Given the description of an element on the screen output the (x, y) to click on. 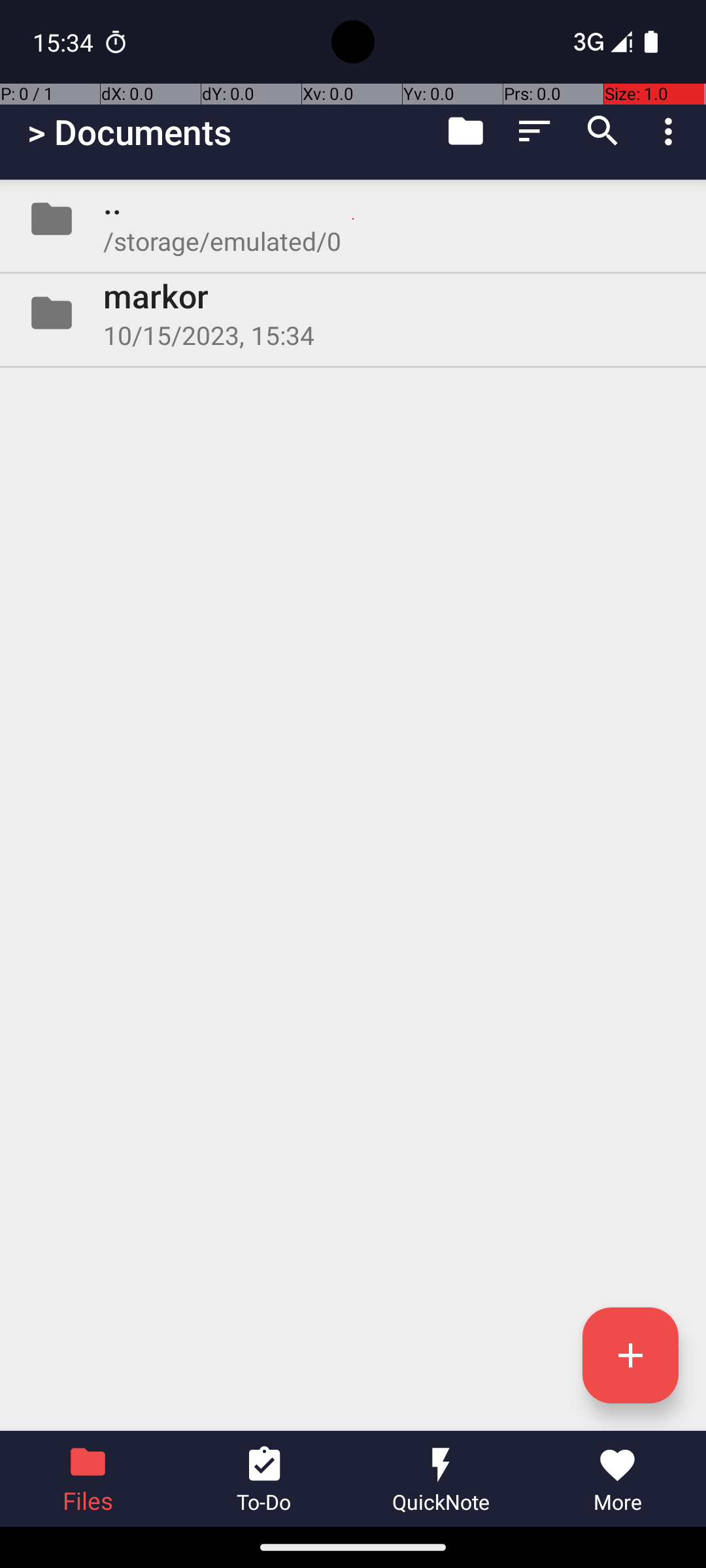
Folder markor 10/15/2023, 15:34 Element type: android.widget.LinearLayout (353, 312)
